Given the description of an element on the screen output the (x, y) to click on. 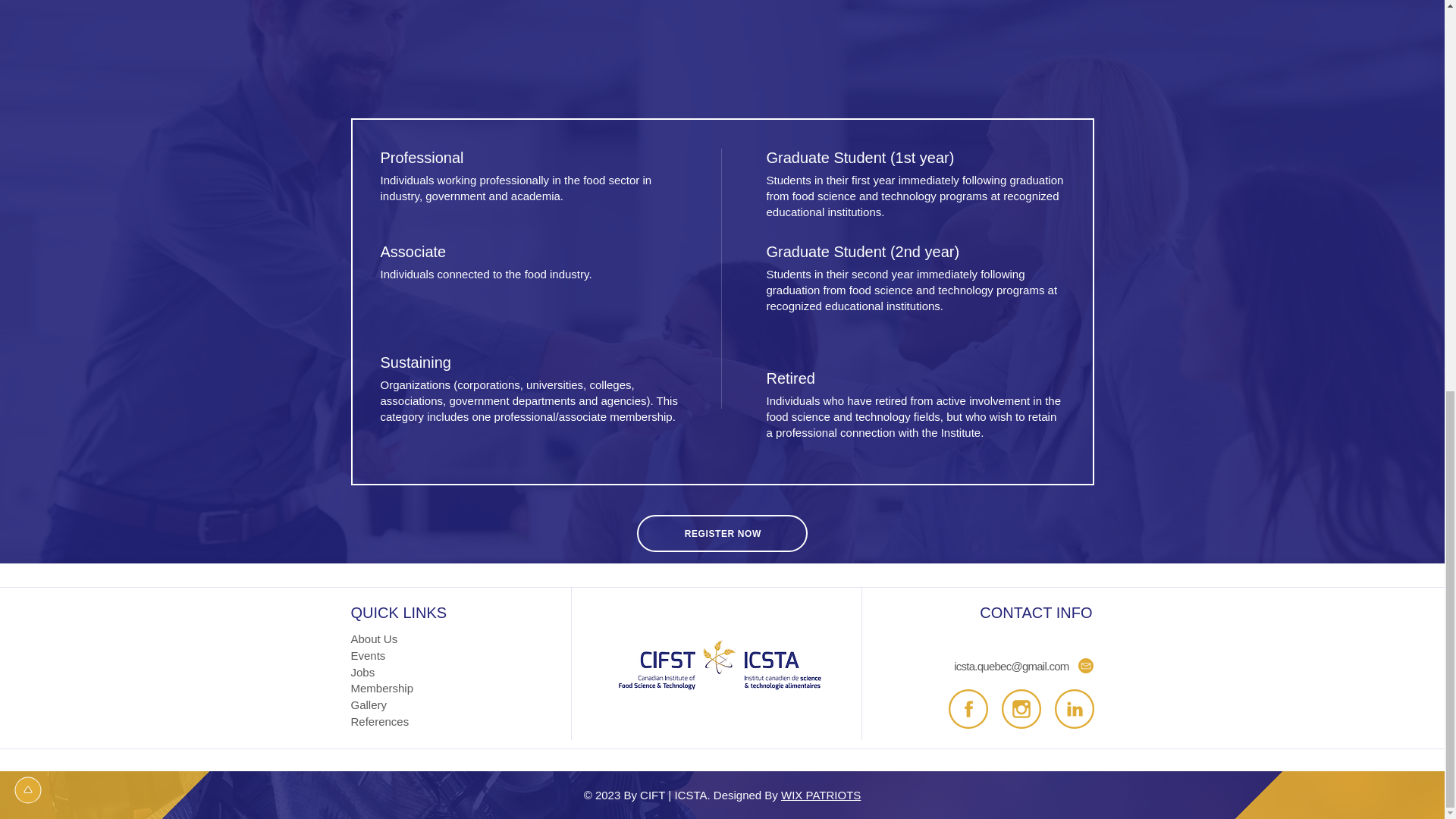
REGISTER NOW (722, 533)
Jobs (362, 671)
Designed By (746, 794)
Membership (381, 687)
Gallery (368, 704)
References (379, 721)
About Us (373, 638)
Events (367, 655)
